Given the description of an element on the screen output the (x, y) to click on. 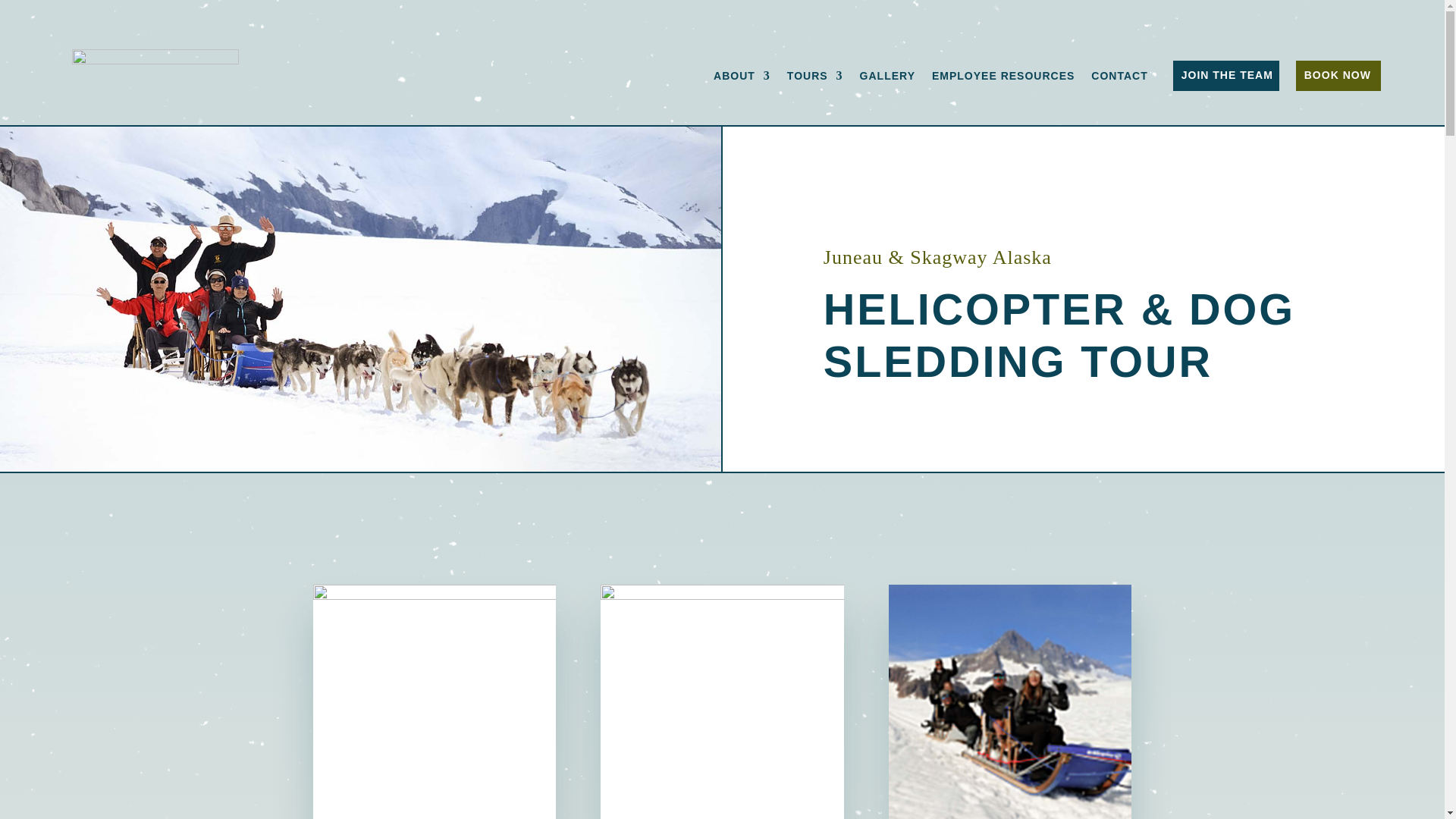
GALLERY (887, 75)
JOIN THE TEAM (1225, 74)
EMPLOYEE RESOURCES (1002, 75)
TOURS (815, 75)
CONTACT (1118, 75)
AIE Website 20 (1009, 701)
ABOUT (741, 75)
BOOK NOW (1338, 74)
AIE Website 14 copy (721, 701)
AIE Website 15 copy (433, 701)
